Given the description of an element on the screen output the (x, y) to click on. 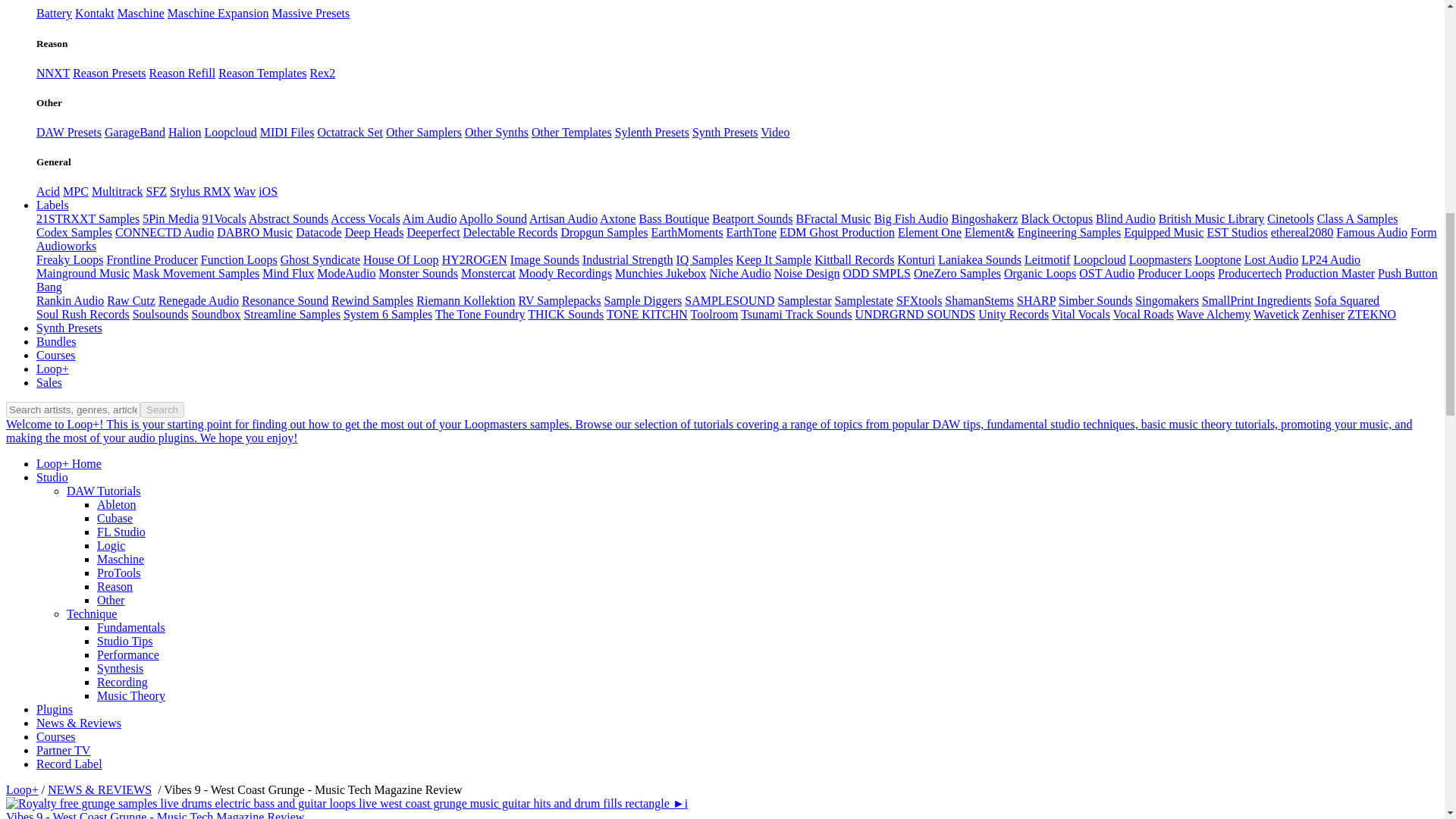
Search (161, 409)
